Given the description of an element on the screen output the (x, y) to click on. 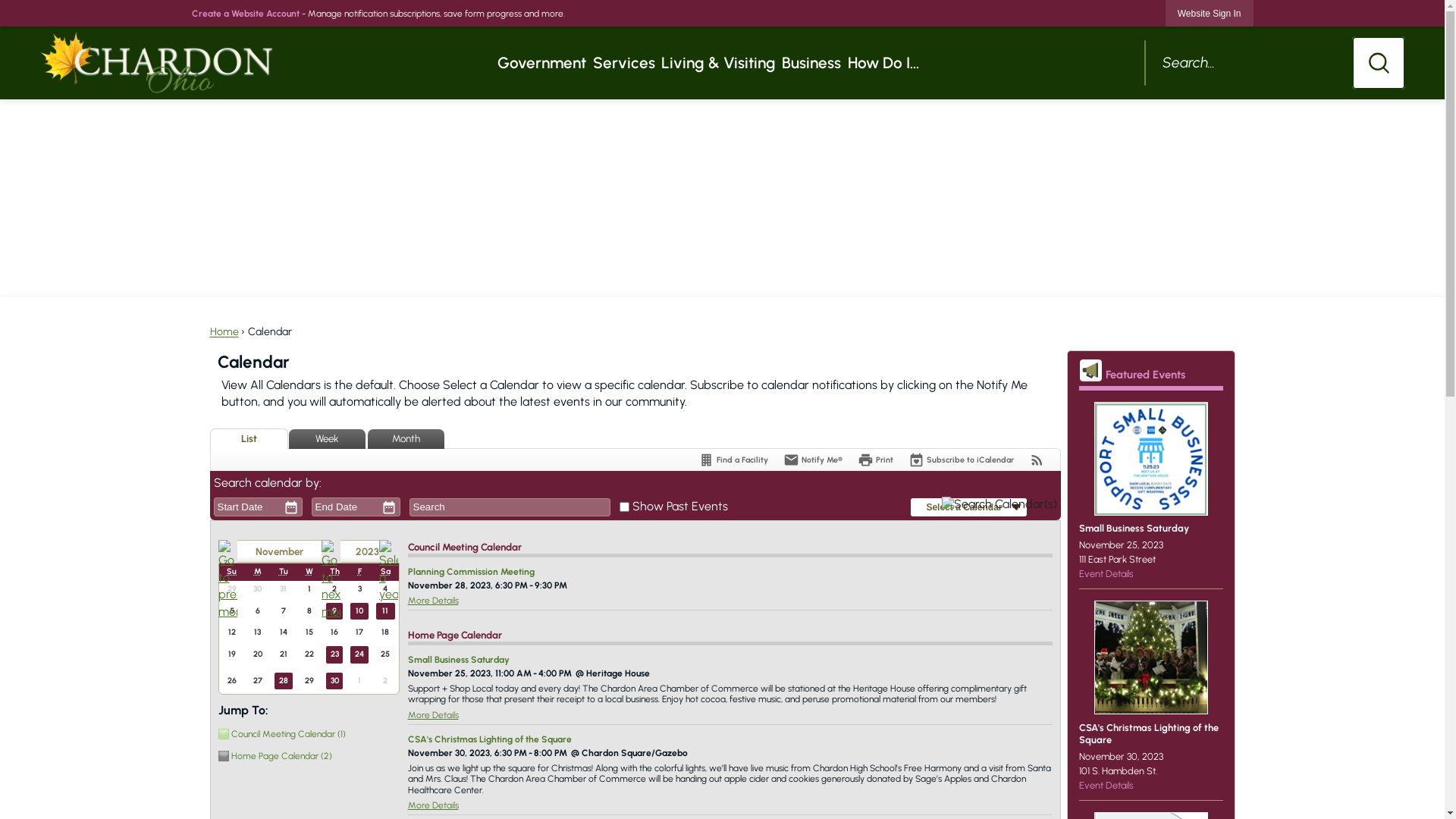
Business Element type: text (811, 62)
11 Element type: text (385, 611)
25 Element type: text (385, 654)
Subscribe to iCalendar Element type: text (960, 459)
End Date Element type: hover (343, 506)
24 Element type: text (359, 654)
Small Business Saturday Element type: text (458, 659)
small business sat Element type: hover (1150, 458)
christmas-lighting-free-harmony-1024x768 Element type: hover (1150, 657)
Living & Visiting Element type: text (718, 62)
Search Calendar(s) Element type: hover (999, 506)
View RSS Feeds Element type: hover (1036, 459)
Skip to Main Content Element type: text (6, 6)
List Element type: text (248, 438)
Council Meeting Calendar (1) Element type: text (305, 733)
Event Details Element type: text (1105, 573)
Event Details Element type: text (1105, 784)
CSA's Christmas Lighting of the Square Element type: text (489, 739)
Government Element type: text (541, 62)
30 Element type: text (334, 681)
Website Sign In Element type: text (1209, 13)
Home Element type: text (223, 331)
More Details Element type: text (432, 714)
Home Page Calendar (2) Element type: text (305, 755)
Print Element type: text (874, 459)
23 Element type: text (334, 654)
Planning Commission Meeting Element type: text (470, 571)
November Element type: text (278, 551)
How Do I... Element type: text (882, 62)
Search... Element type: hover (1273, 62)
Month Element type: text (405, 438)
Create a Website Account Element type: text (244, 13)
Search Terms Element type: hover (509, 507)
9 Element type: text (334, 611)
More Details Element type: text (432, 600)
Services Element type: text (623, 62)
Week Element type: text (326, 438)
Find a Facility Element type: text (732, 459)
28 Element type: text (283, 681)
Select a Calendar Element type: text (968, 507)
More Details Element type: text (432, 805)
10 Element type: text (359, 611)
Start Date Element type: text (244, 506)
on Element type: text (624, 506)
Start Date Element type: hover (244, 506)
End Date Element type: text (343, 506)
2023 Element type: text (358, 551)
